Given the description of an element on the screen output the (x, y) to click on. 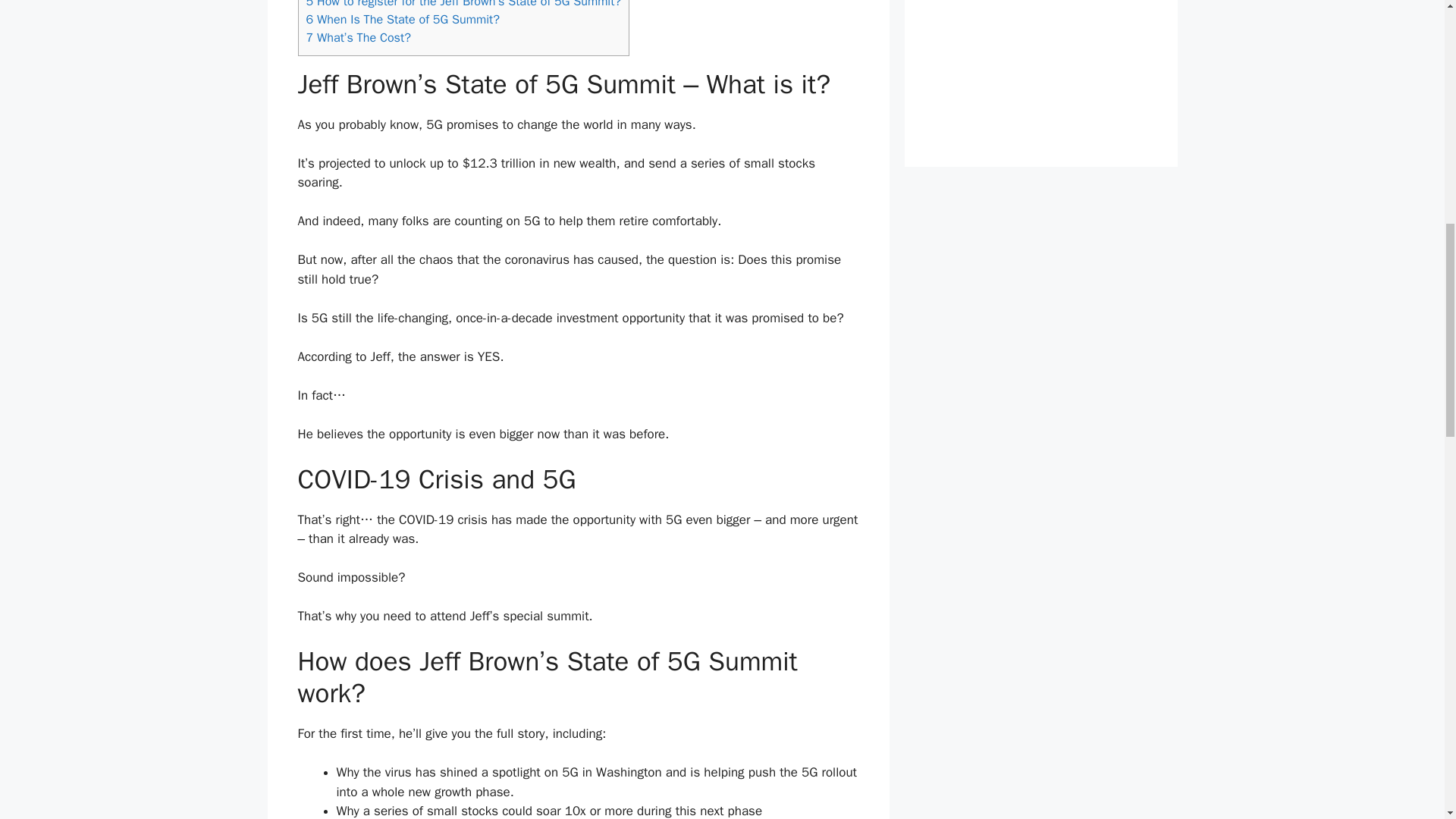
6 When Is The State of 5G Summit? (402, 19)
FREE 2024 GOLD IRA KIT (1040, 125)
